Given the description of an element on the screen output the (x, y) to click on. 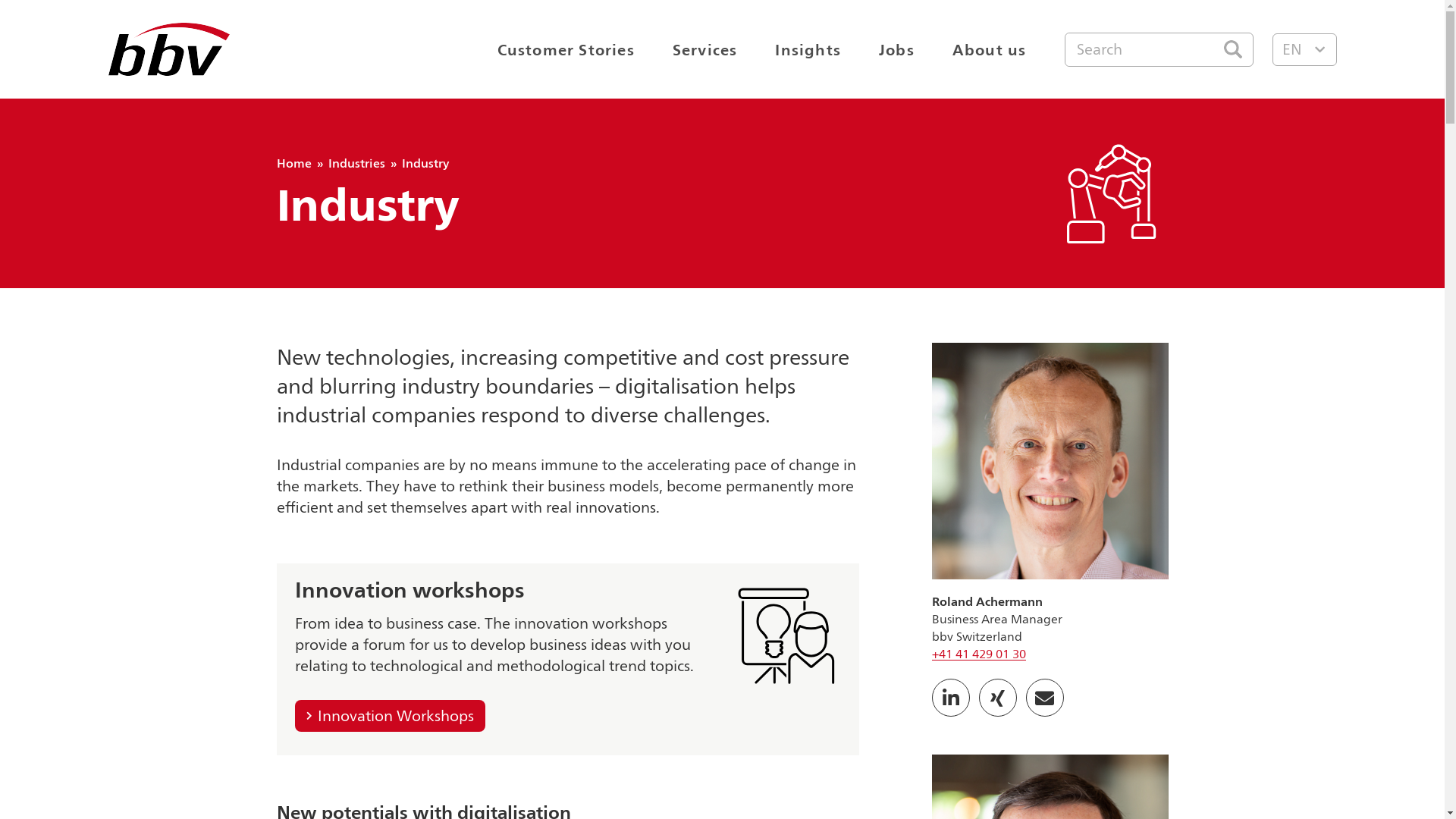
Innovation workshops Element type: text (409, 592)
Customer Stories Element type: text (565, 48)
+41 41 429 01 30 Element type: text (978, 653)
Innovation Workshops Element type: text (389, 715)
Jobs Element type: text (896, 48)
Home Element type: text (293, 163)
Services Element type: text (704, 48)
Insights Element type: text (807, 48)
EN Element type: text (1304, 49)
Industries Element type: text (355, 163)
About us Element type: text (989, 48)
